Given the description of an element on the screen output the (x, y) to click on. 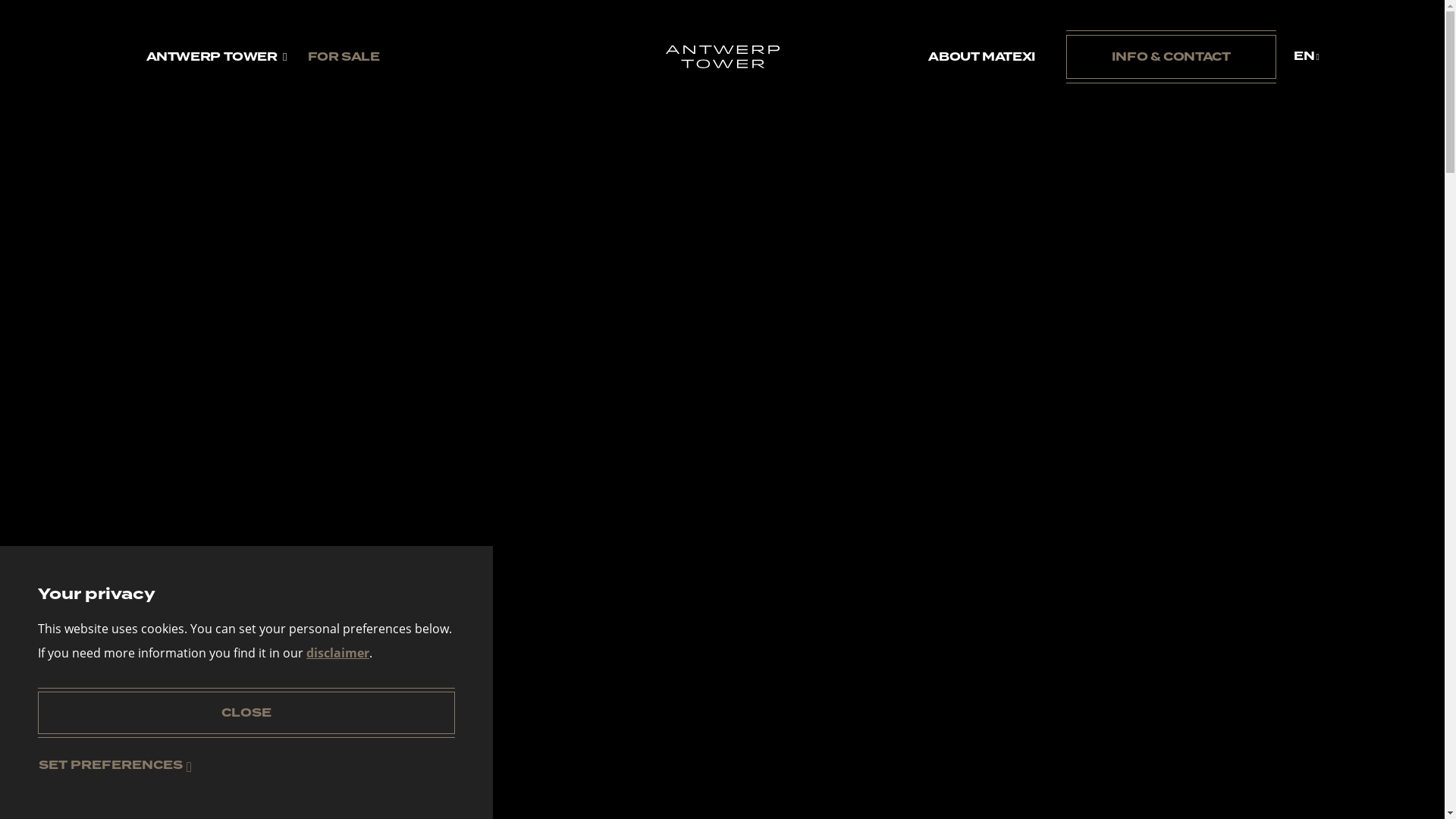
INFO & CONTACT Element type: text (1171, 56)
CLOSE Element type: text (246, 712)
disclaimer Element type: text (337, 652)
SET PREFERENCES Element type: text (112, 765)
ABOUT MATEXI Element type: text (982, 56)
FOR SALE Element type: text (343, 56)
ANTWERP TOWER Element type: text (210, 56)
